Given the description of an element on the screen output the (x, y) to click on. 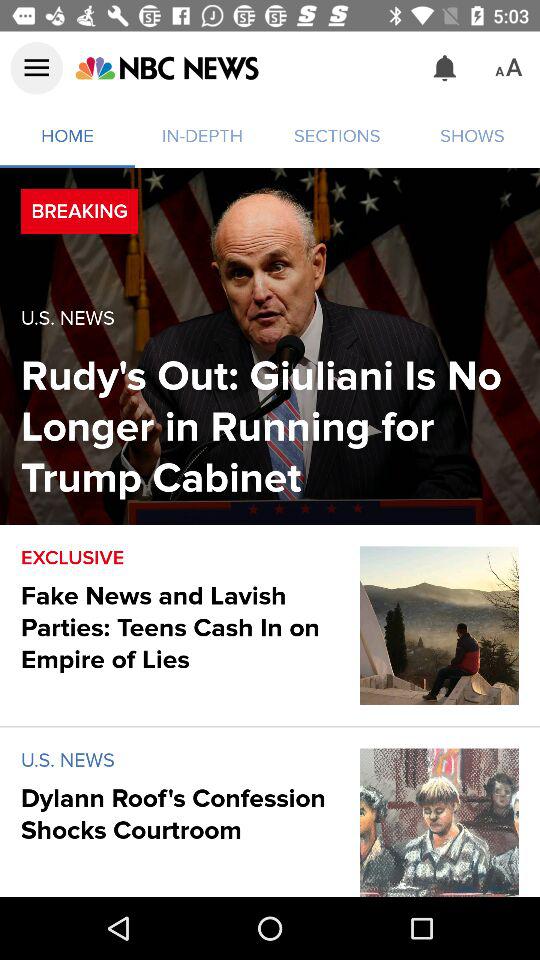
select icon next to the sections (166, 68)
